Given the description of an element on the screen output the (x, y) to click on. 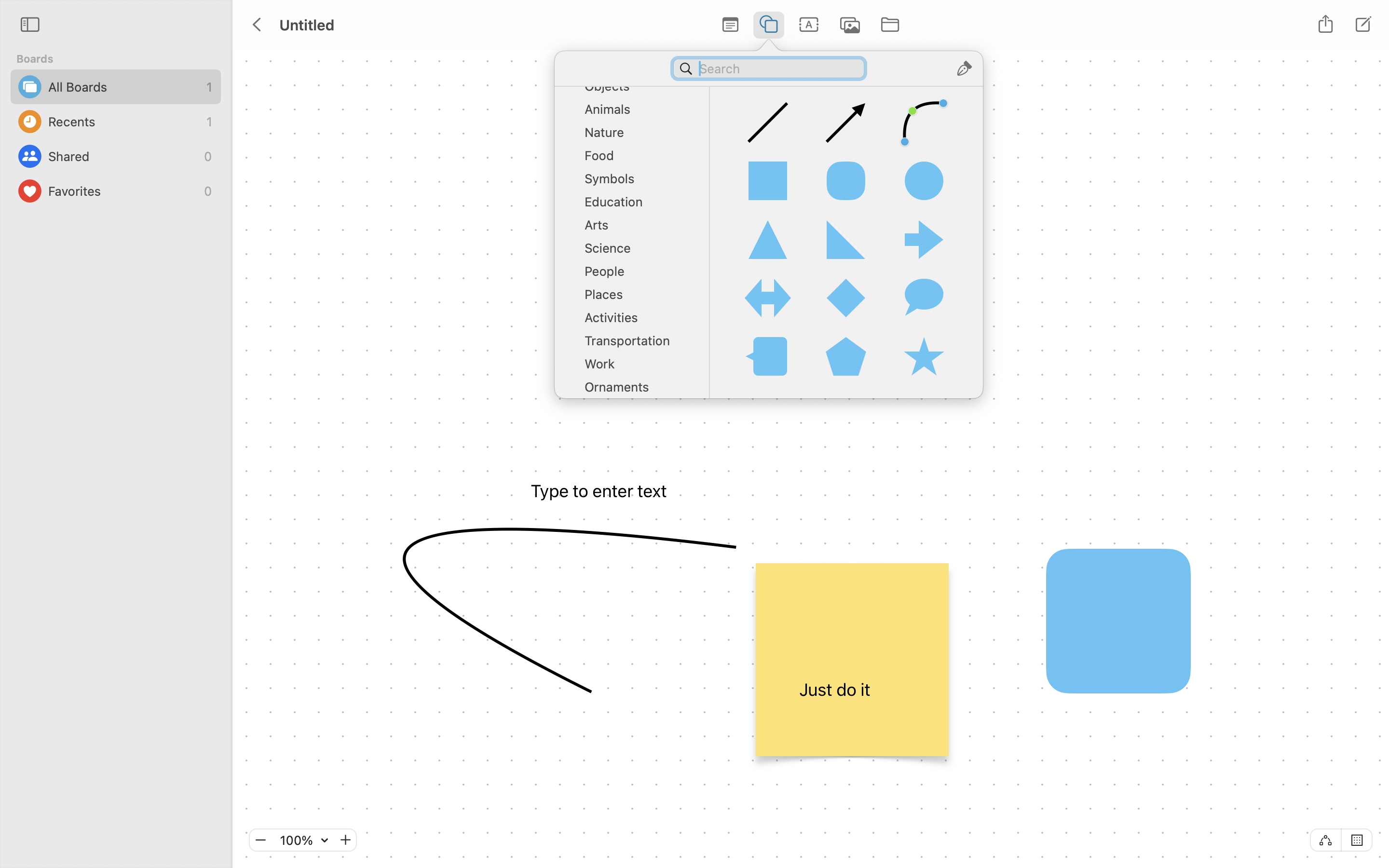
Transportation Element type: AXStaticText (636, 343)
Untitled Element type: AXStaticText (305, 24)
All Boards Element type: AXStaticText (124, 86)
People Element type: AXStaticText (636, 274)
Shared Element type: AXStaticText (123, 155)
